Given the description of an element on the screen output the (x, y) to click on. 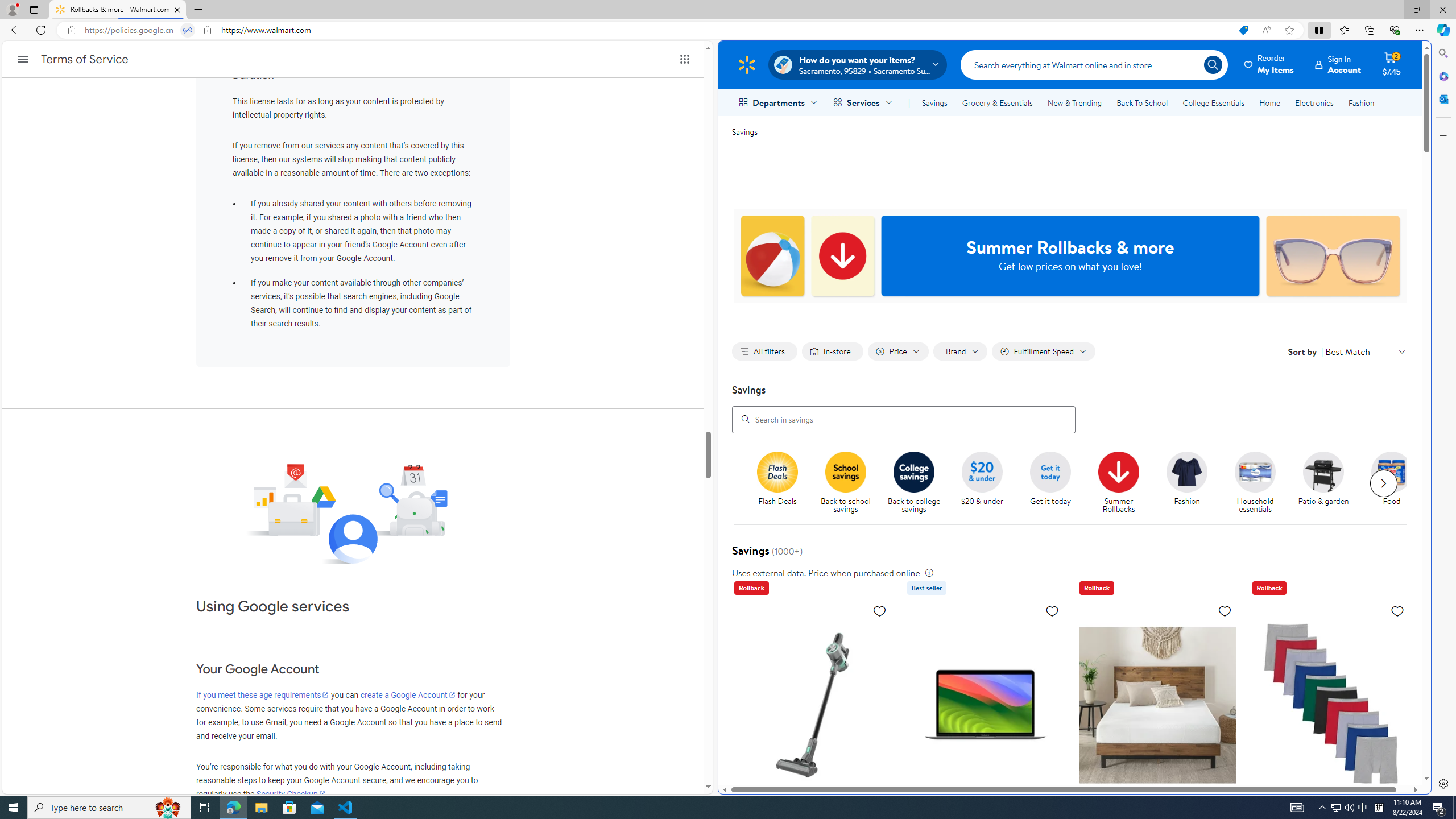
Filter by In-store (831, 351)
Restore (1416, 9)
Class: ld ld-ChevronDown pa0 ml6 (1401, 351)
Next slide for chipModuleWithImages list (1383, 483)
Favorites (1344, 29)
Electronics (1314, 102)
Summer Rollbacks (1117, 471)
Read aloud this page (Ctrl+Shift+U) (1266, 29)
Household essentials Household essentials (1254, 483)
Browser essentials (1394, 29)
Patio & garden (1323, 471)
Settings and more (Alt+F) (1419, 29)
Filter by Price not applied, activate to change (897, 351)
New & Trending (1075, 102)
